Given the description of an element on the screen output the (x, y) to click on. 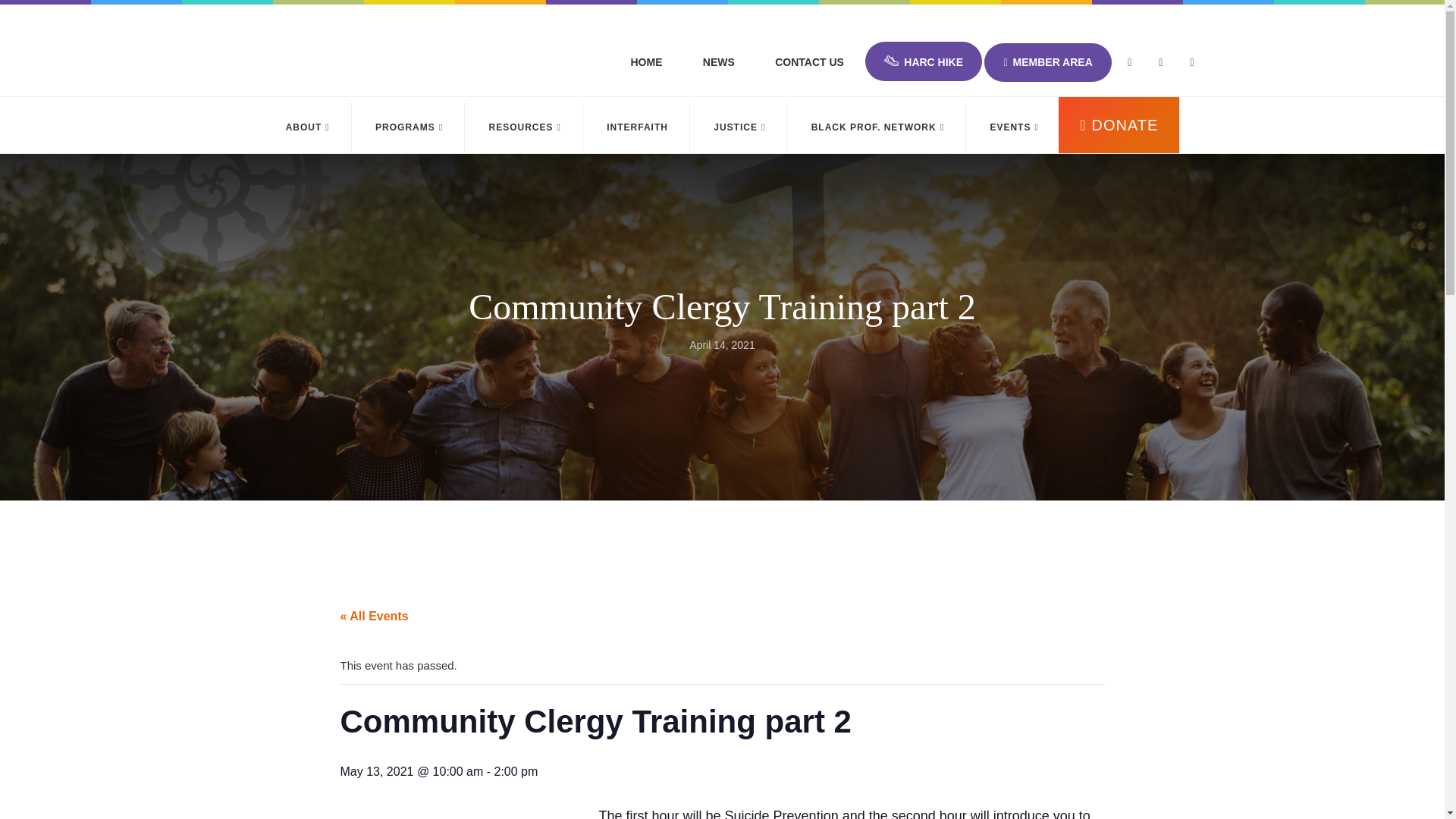
CONTACT US (809, 62)
HARC HIKE (922, 61)
INTERFAITH (637, 127)
MEMBER AREA (1047, 62)
HOME (646, 62)
NEWS (719, 62)
PROGRAMS (408, 127)
ABOUT (308, 127)
JUSTICE (740, 127)
RESOURCES (524, 127)
